Given the description of an element on the screen output the (x, y) to click on. 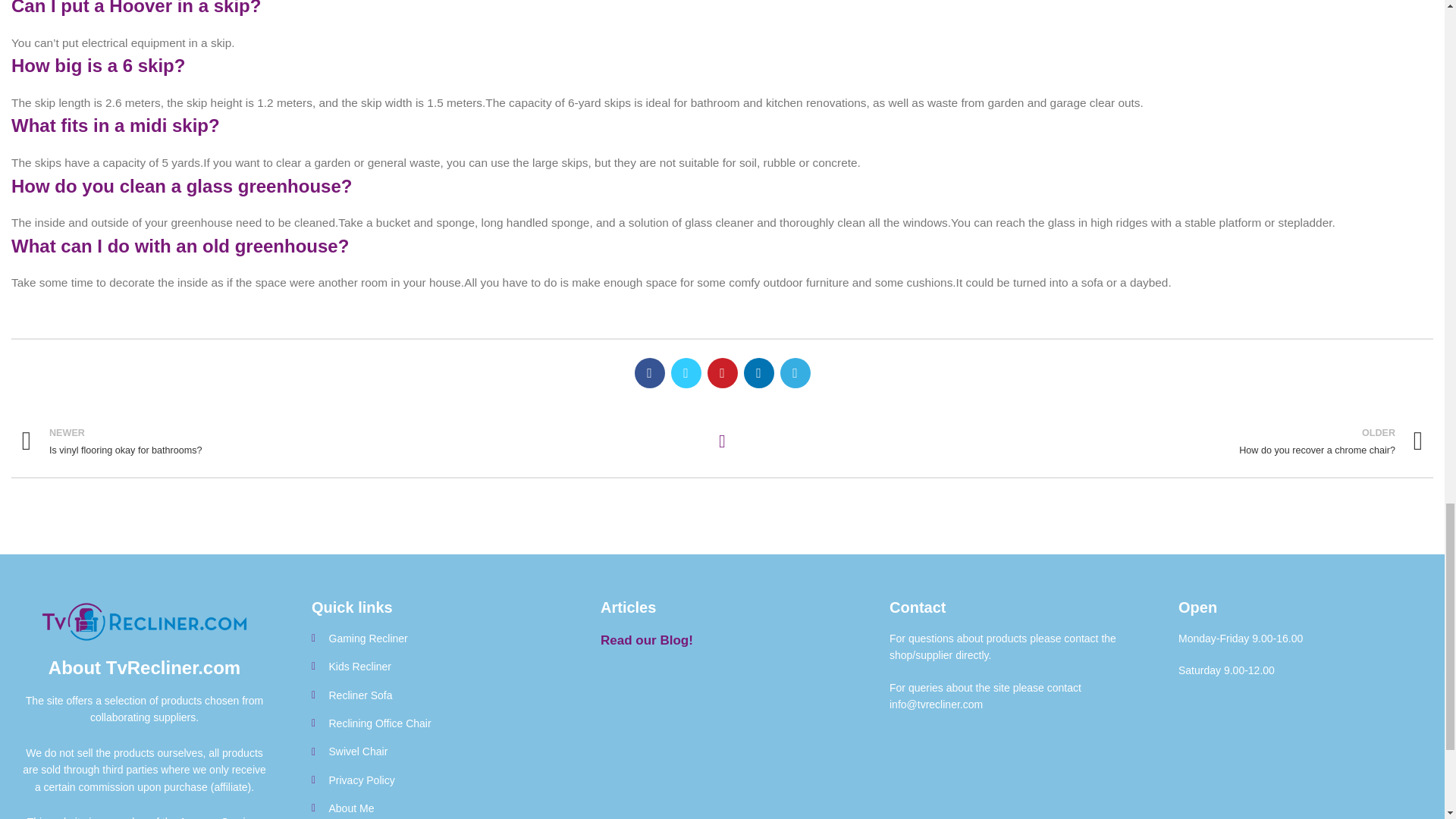
Privacy Policy (1082, 441)
About Me (432, 780)
Recliner Sofa (361, 441)
Kids Recliner (432, 808)
Back to list (432, 695)
Reclining Office Chair (432, 666)
Swivel Chair (722, 440)
Gaming Recliner (432, 723)
